Given the description of an element on the screen output the (x, y) to click on. 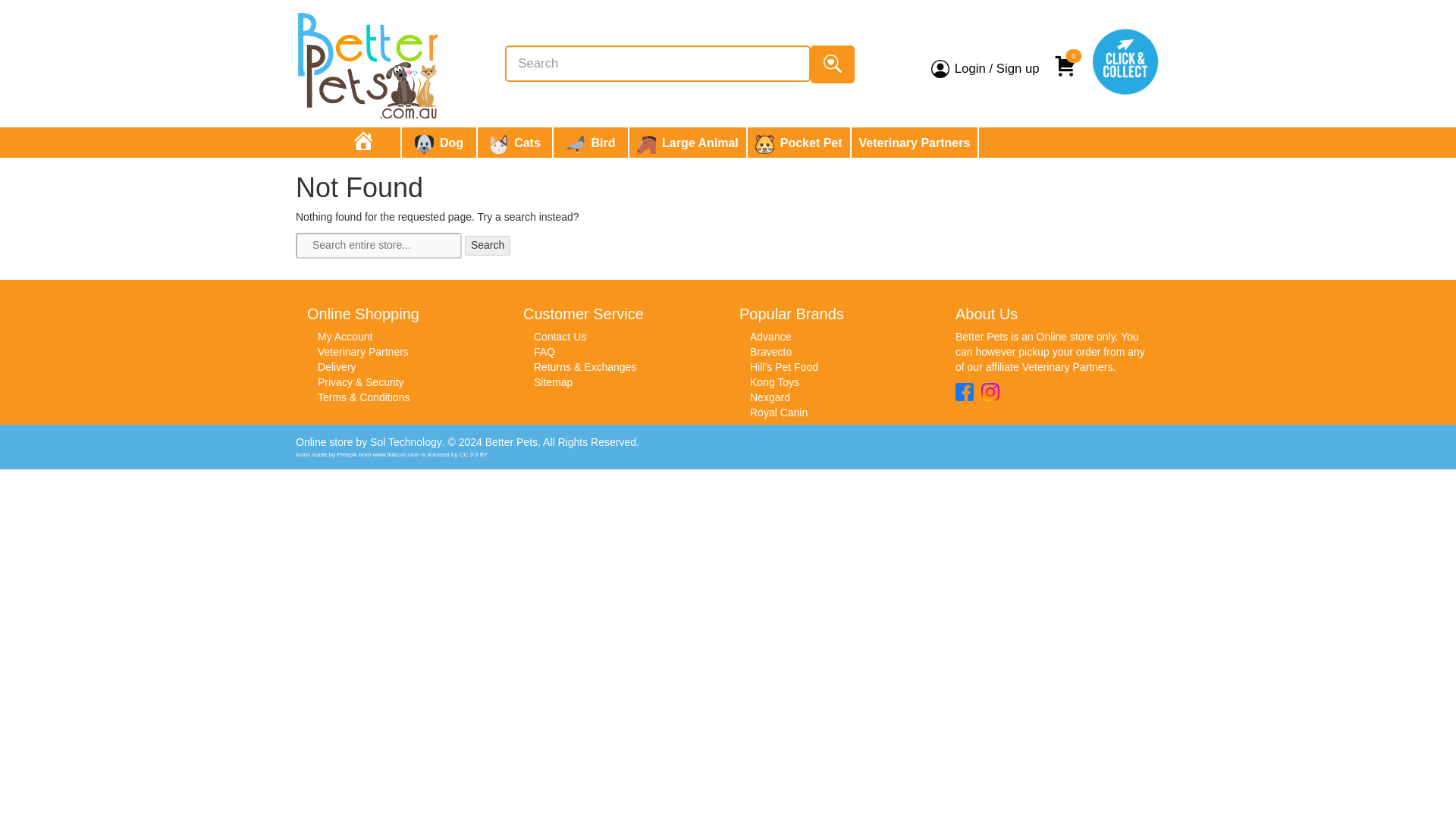
0 (1067, 59)
Home (362, 142)
Freepik (346, 454)
View your shopping cart (1067, 59)
Creative Commons BY 3.0 (473, 454)
Dog (438, 142)
Flaticon (395, 454)
